Given the description of an element on the screen output the (x, y) to click on. 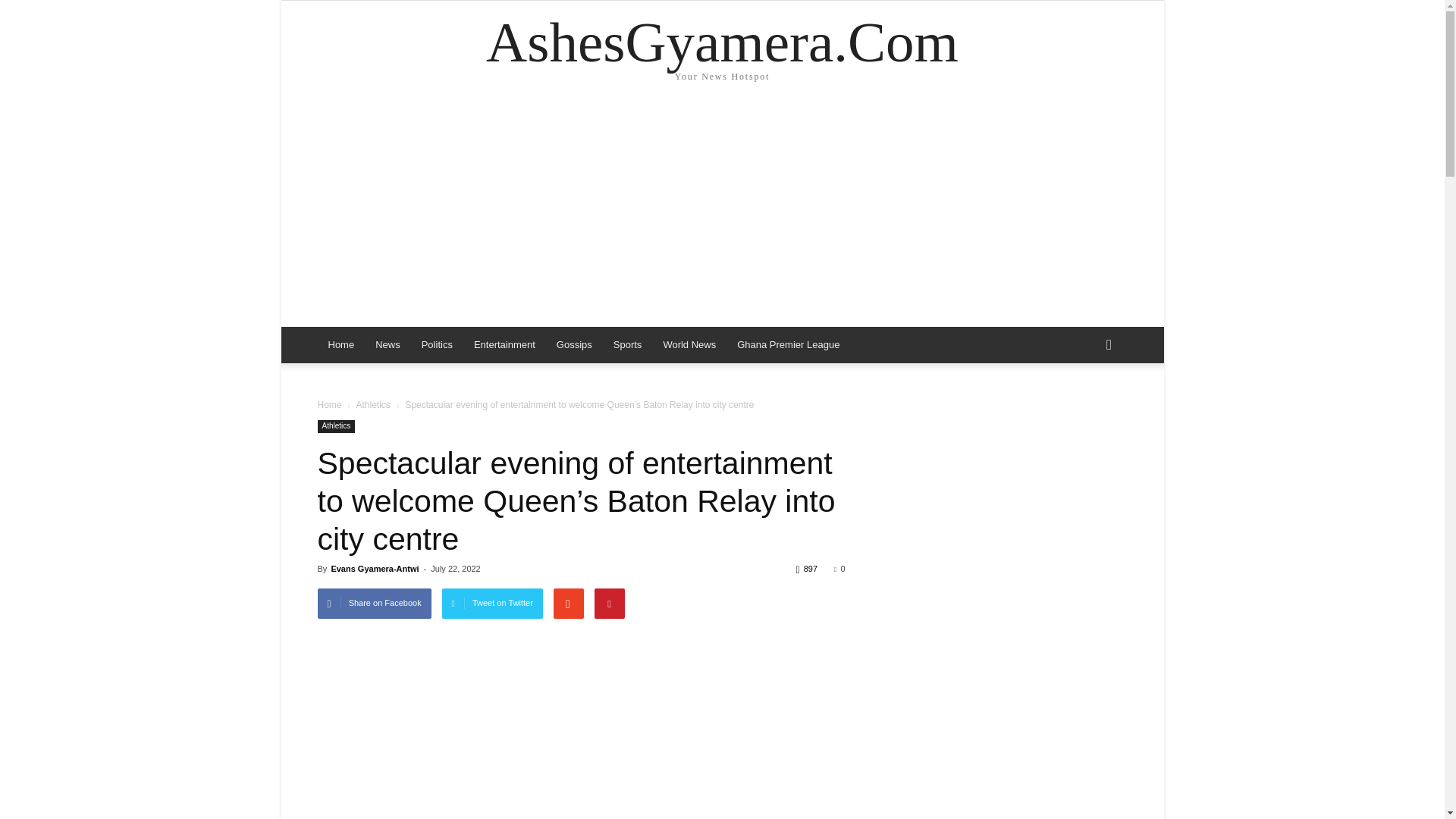
Home (328, 404)
Gossips (574, 344)
Share on Facebook (373, 603)
News (387, 344)
Home (341, 344)
Search (1085, 405)
Athletics (372, 404)
Evans Gyamera-Antwi (374, 568)
Tweet on Twitter (492, 603)
World News (689, 344)
